Given the description of an element on the screen output the (x, y) to click on. 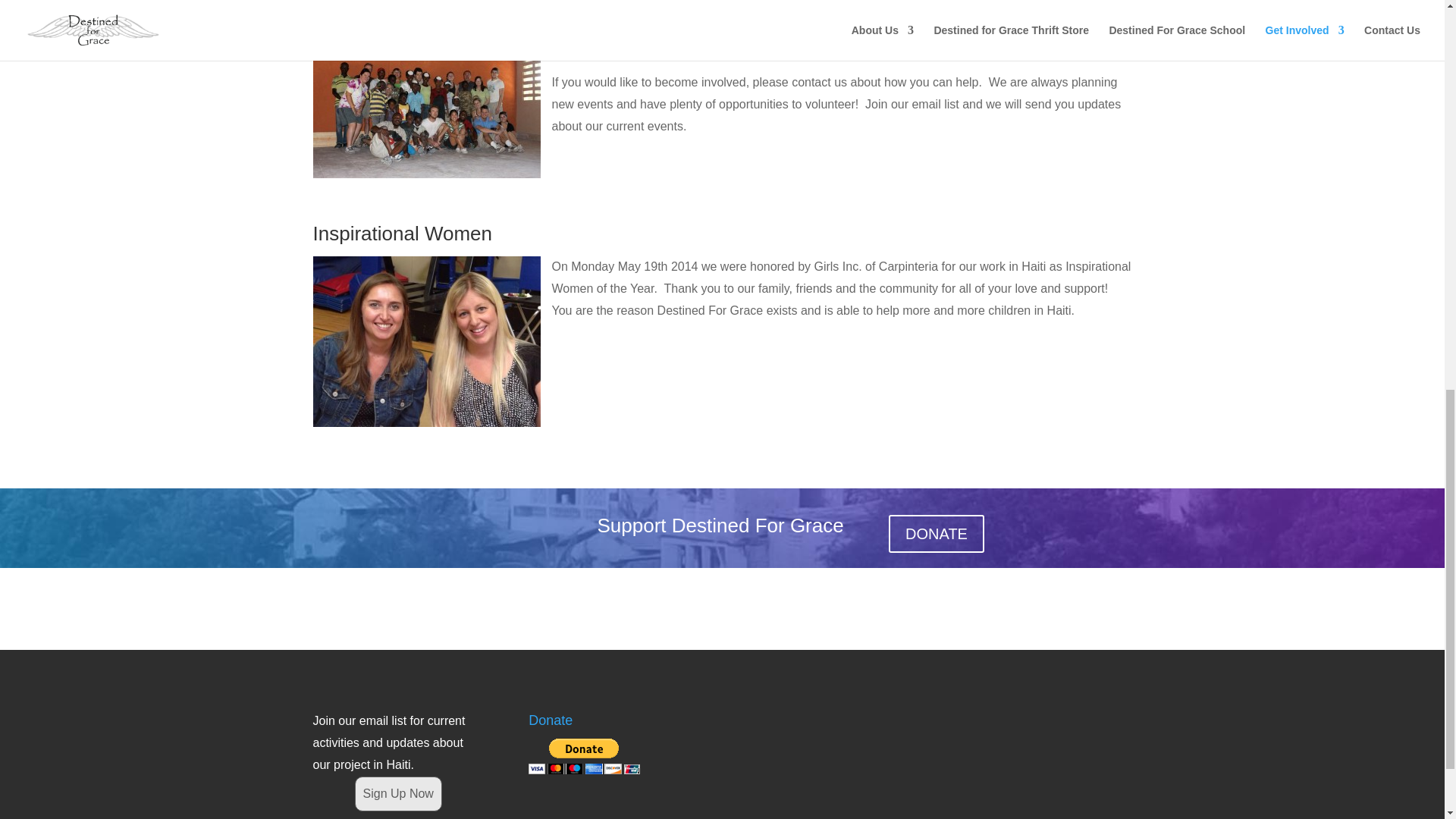
DONATE (936, 533)
Sign Up Now (398, 794)
